Given the description of an element on the screen output the (x, y) to click on. 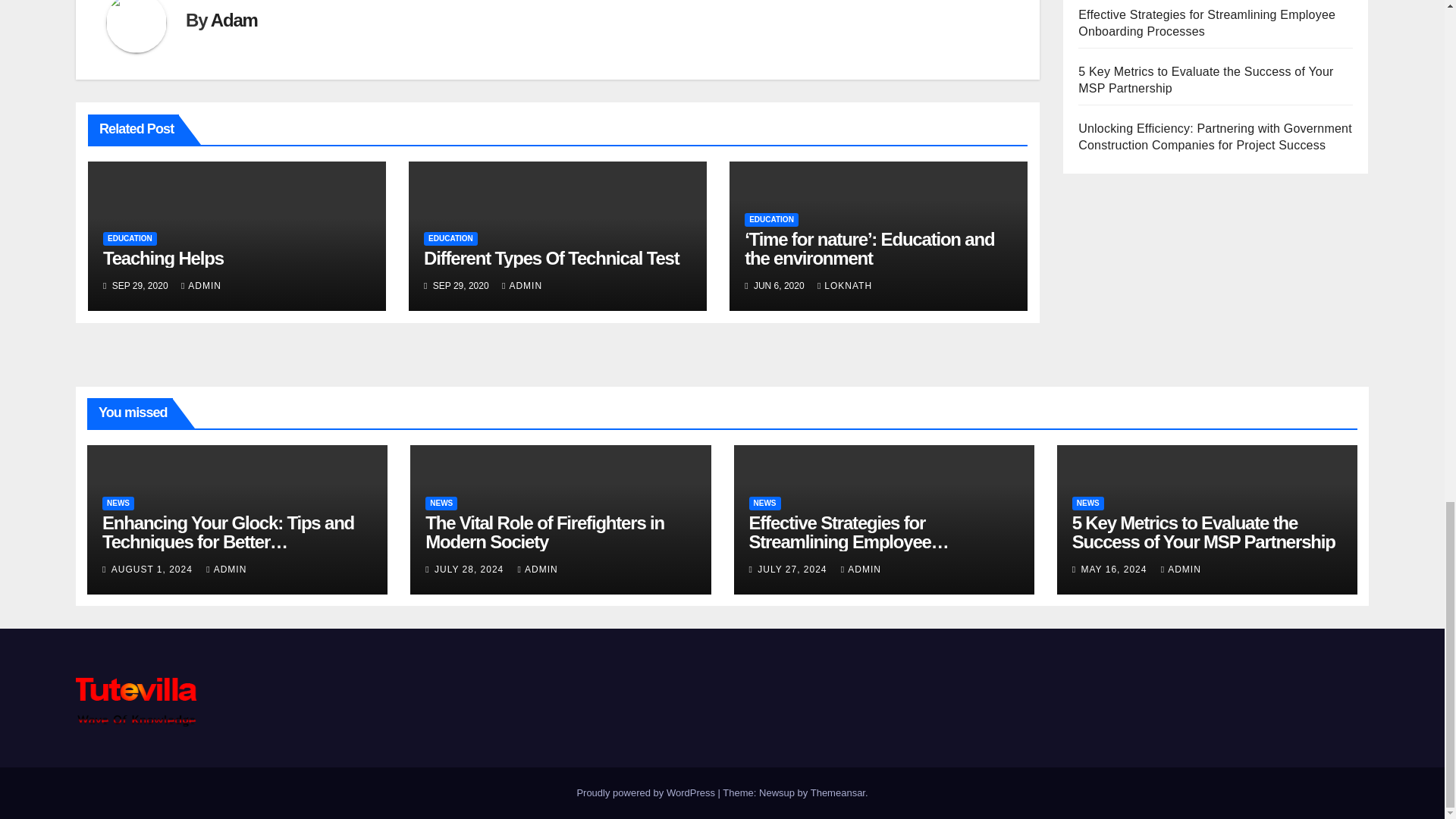
Different Types Of Technical Test (550, 258)
EDUCATION (450, 238)
Adam (234, 19)
EDUCATION (130, 238)
Teaching Helps (163, 258)
ADMIN (200, 285)
ADMIN (521, 285)
